Given the description of an element on the screen output the (x, y) to click on. 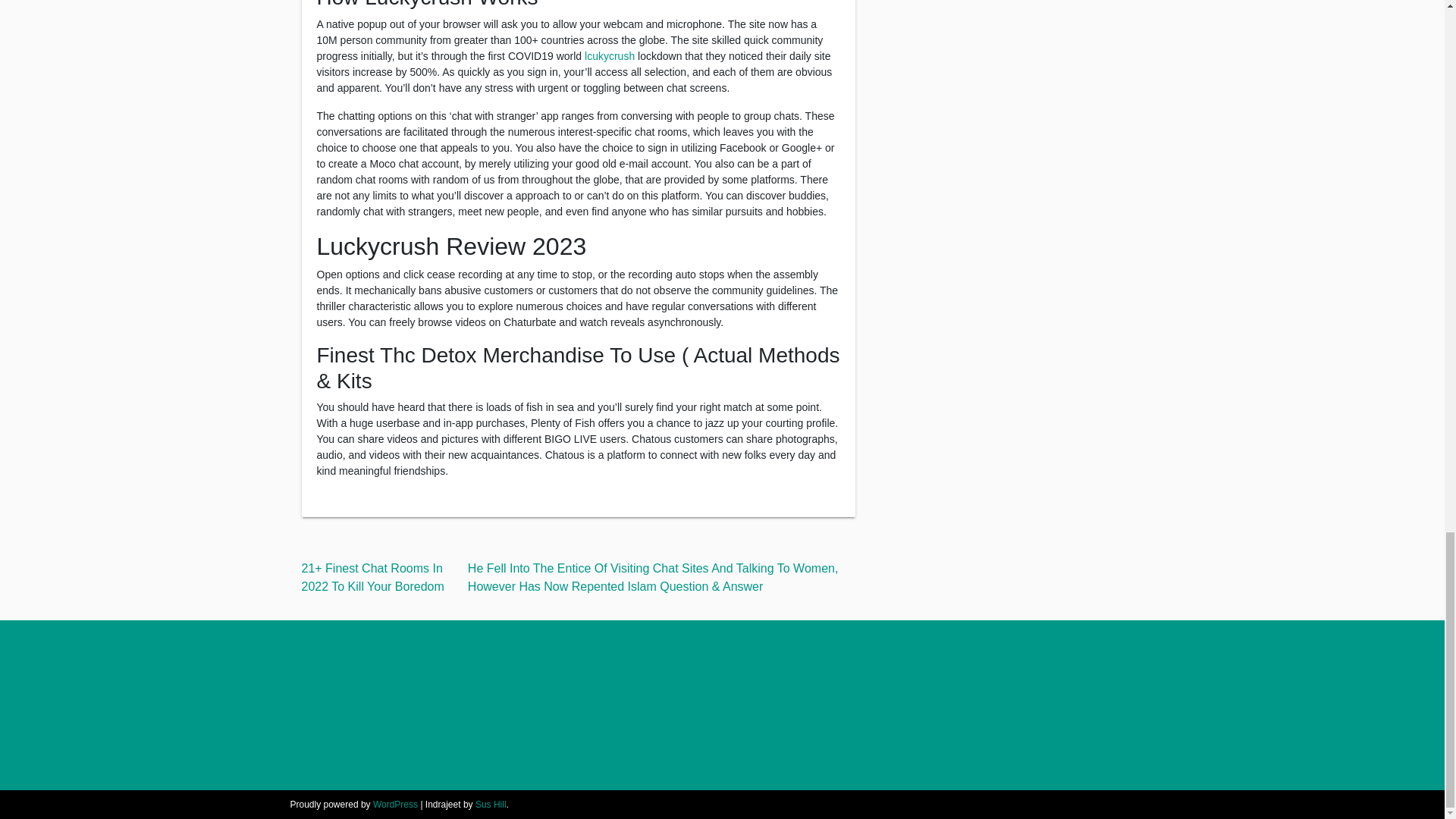
lcukycrush (609, 55)
